Given the description of an element on the screen output the (x, y) to click on. 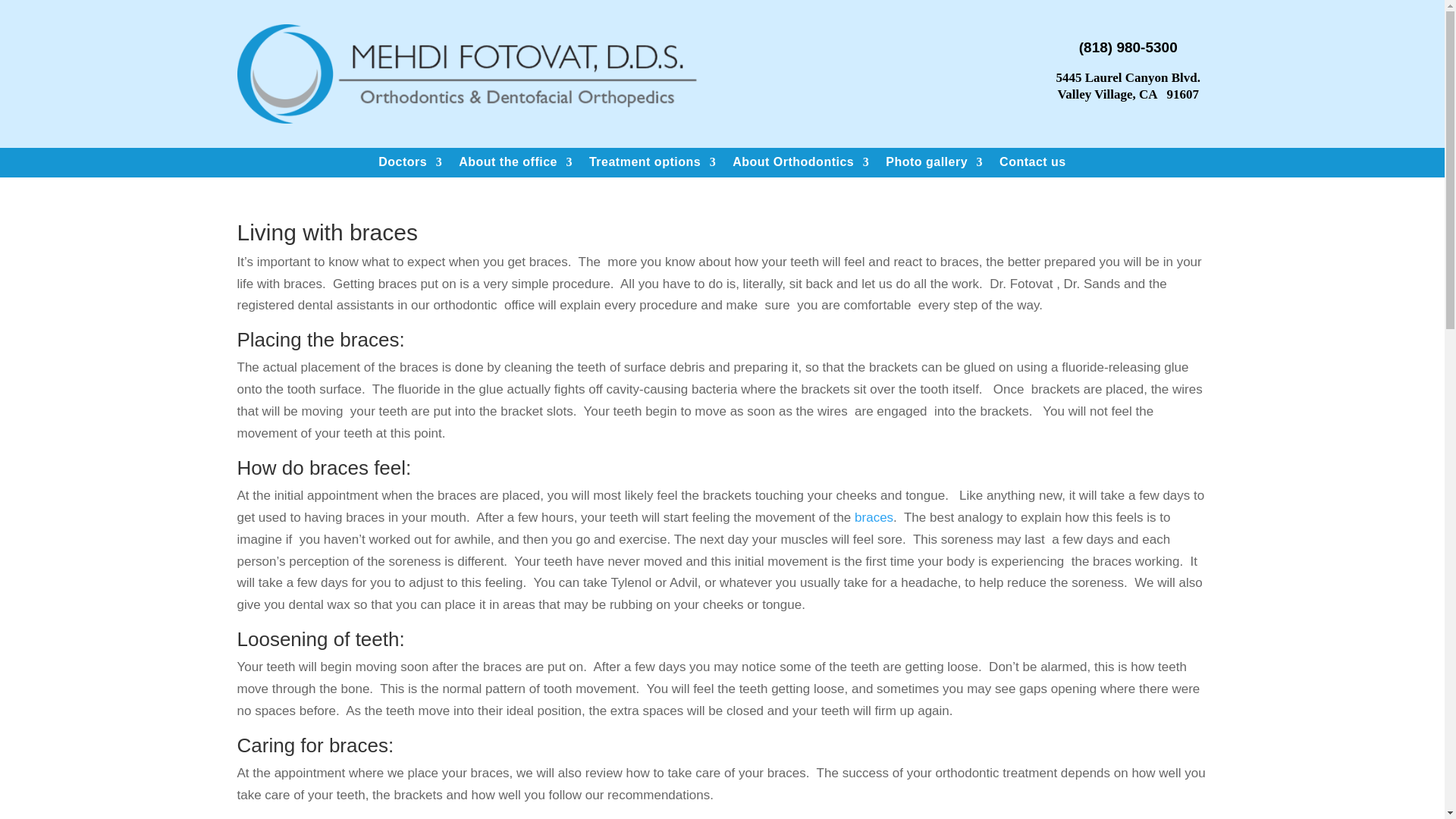
Contact us (1031, 164)
Treatment options (652, 164)
Photo gallery (933, 164)
About the office (515, 164)
Doctors (410, 164)
About Orthodontics (800, 164)
